Given the description of an element on the screen output the (x, y) to click on. 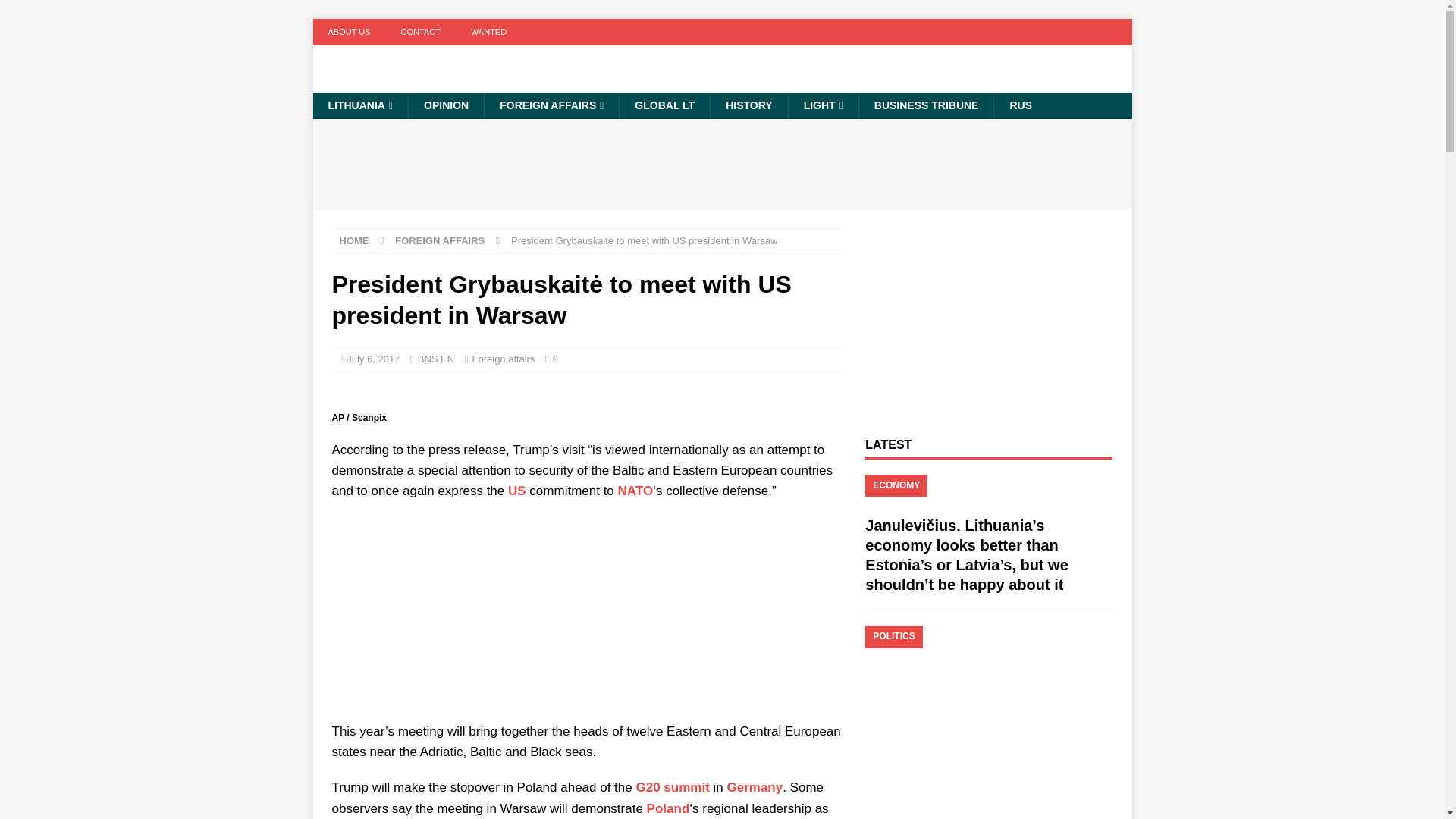
LITHUANIA (360, 104)
CONTACT (420, 31)
WANTED (488, 31)
ABOUT US (349, 31)
